Given the description of an element on the screen output the (x, y) to click on. 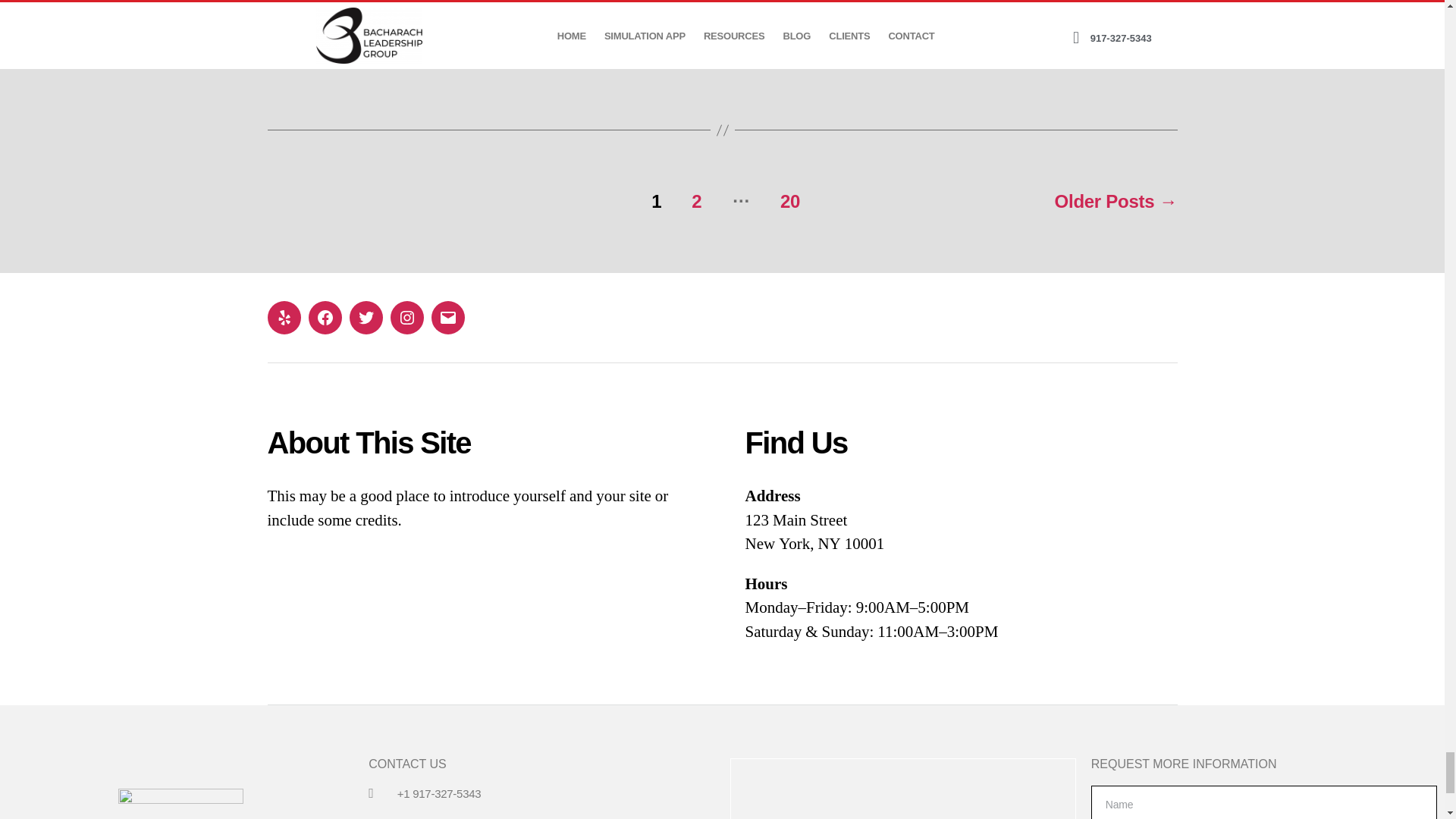
women at table (722, 10)
